Given the description of an element on the screen output the (x, y) to click on. 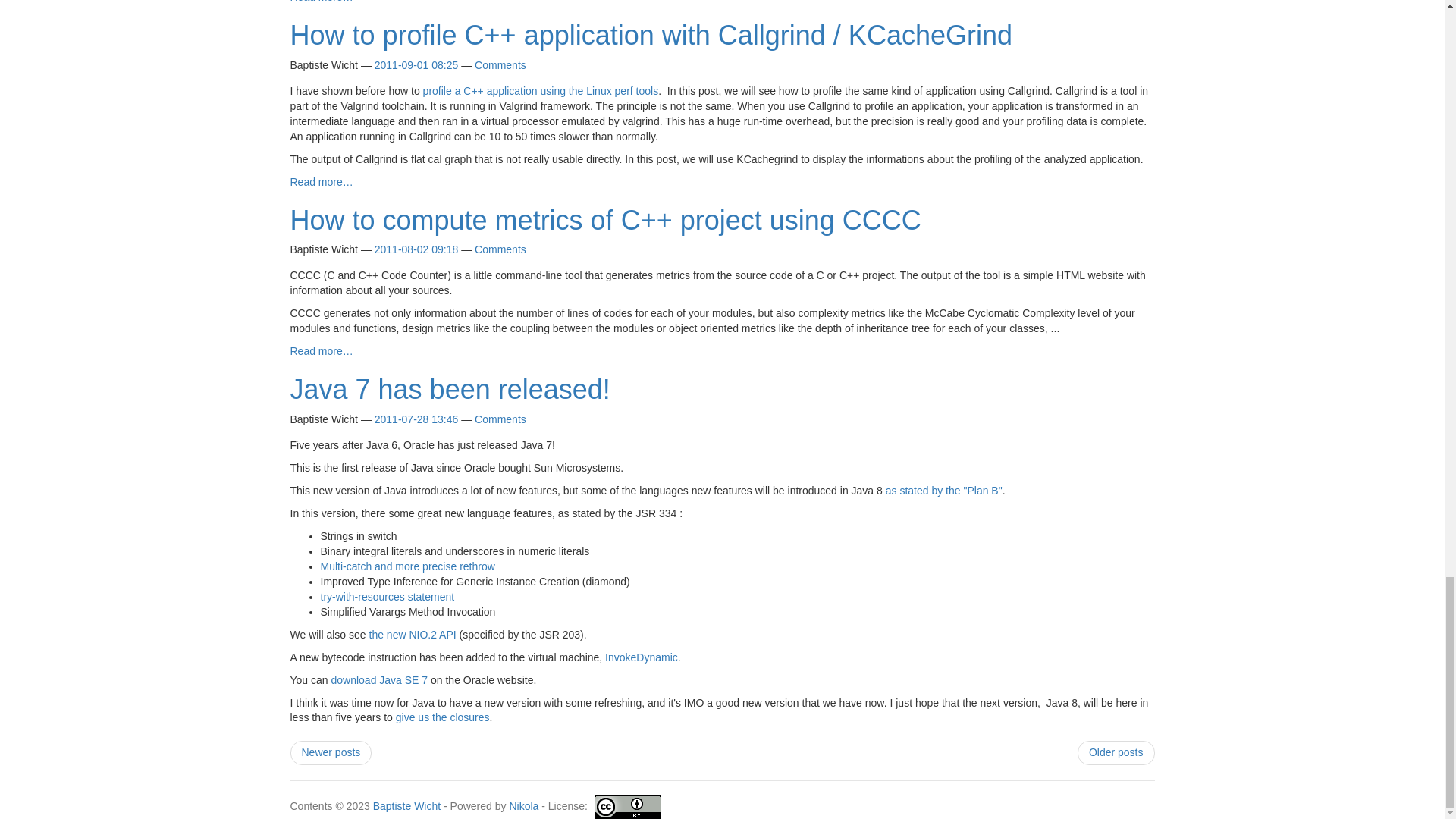
2011-09-01 08:25 (416, 64)
2011-08-02 09:18 (416, 249)
